Given the description of an element on the screen output the (x, y) to click on. 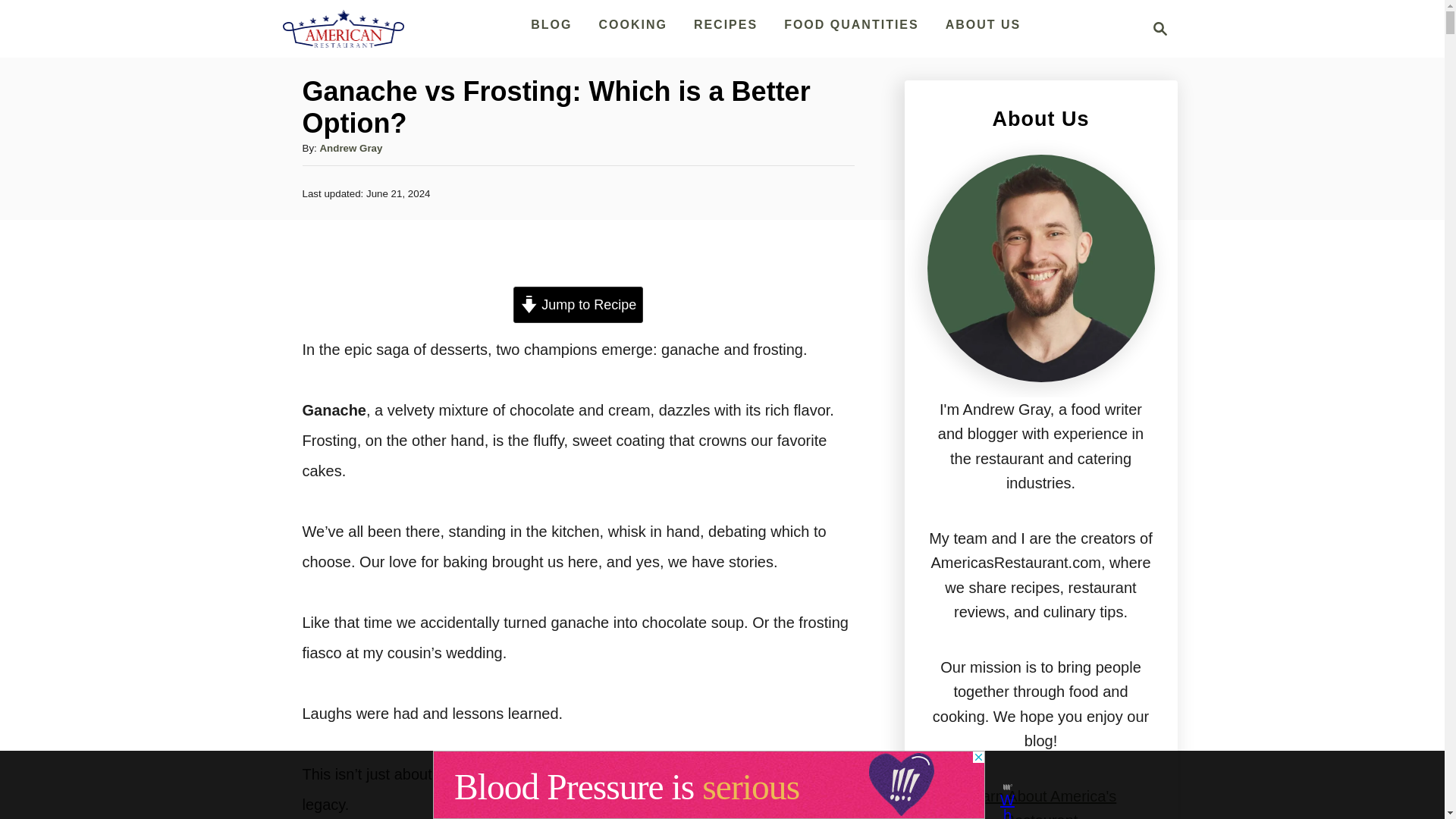
Jump to Recipe (578, 304)
Magnifying Glass (1160, 28)
3rd party ad content (708, 785)
ABOUT US (983, 24)
Andrew Gray (349, 147)
RECIPES (725, 24)
COOKING (632, 24)
BLOG (550, 24)
FOOD QUANTITIES (1155, 28)
